Given the description of an element on the screen output the (x, y) to click on. 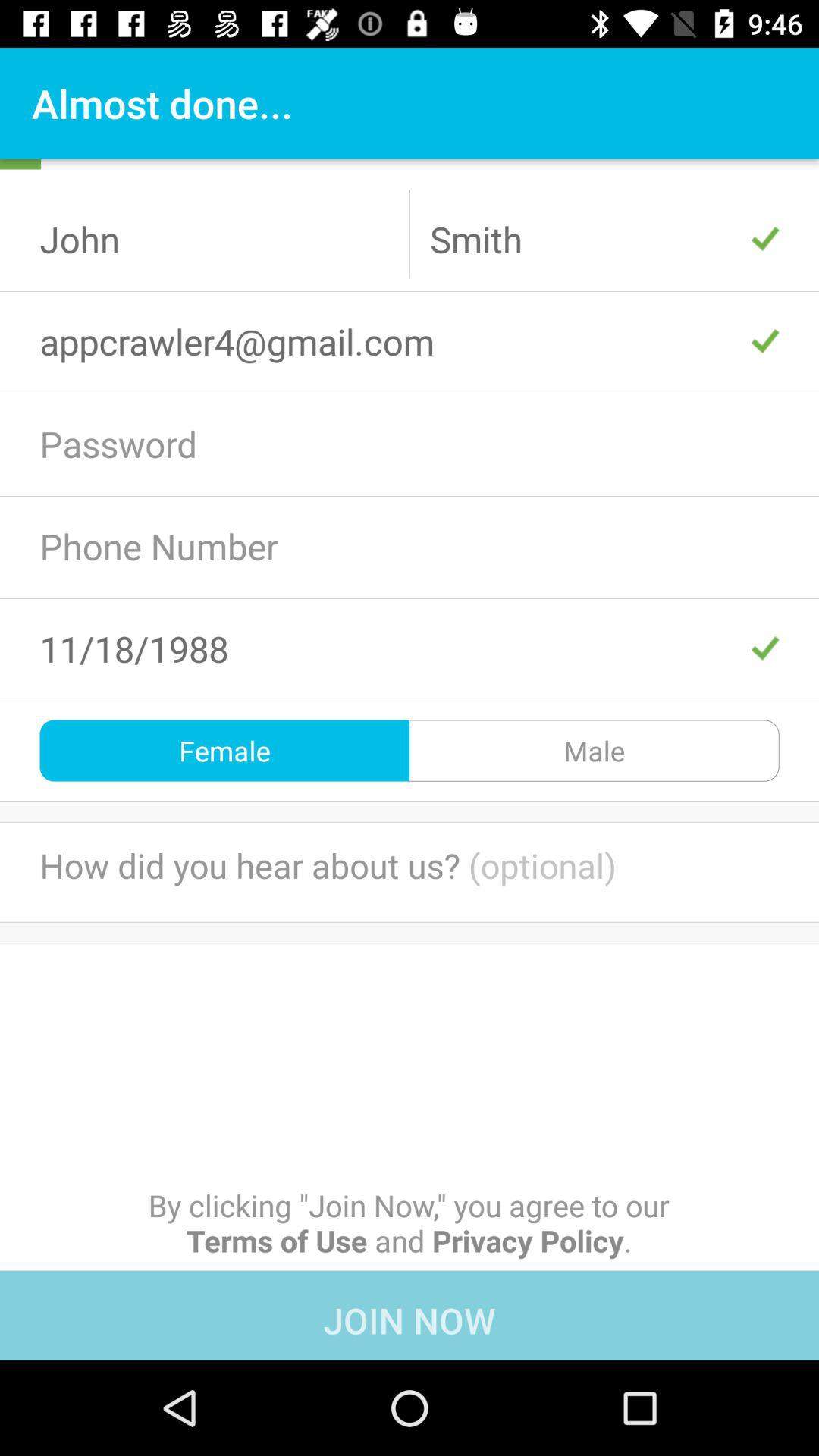
flip until the appcrawler4@gmail.com (409, 341)
